Given the description of an element on the screen output the (x, y) to click on. 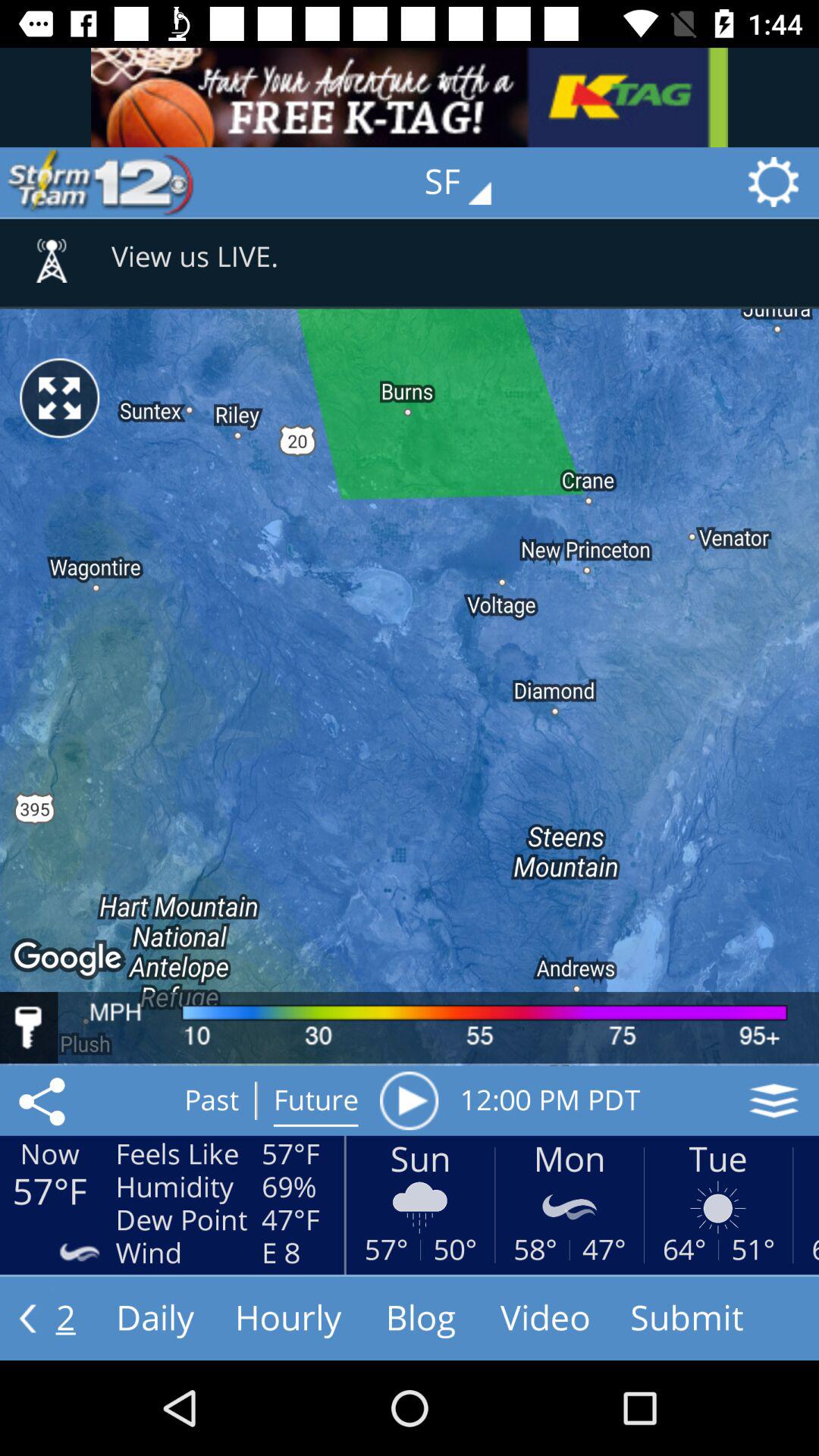
tap the item above tue (774, 1100)
